Given the description of an element on the screen output the (x, y) to click on. 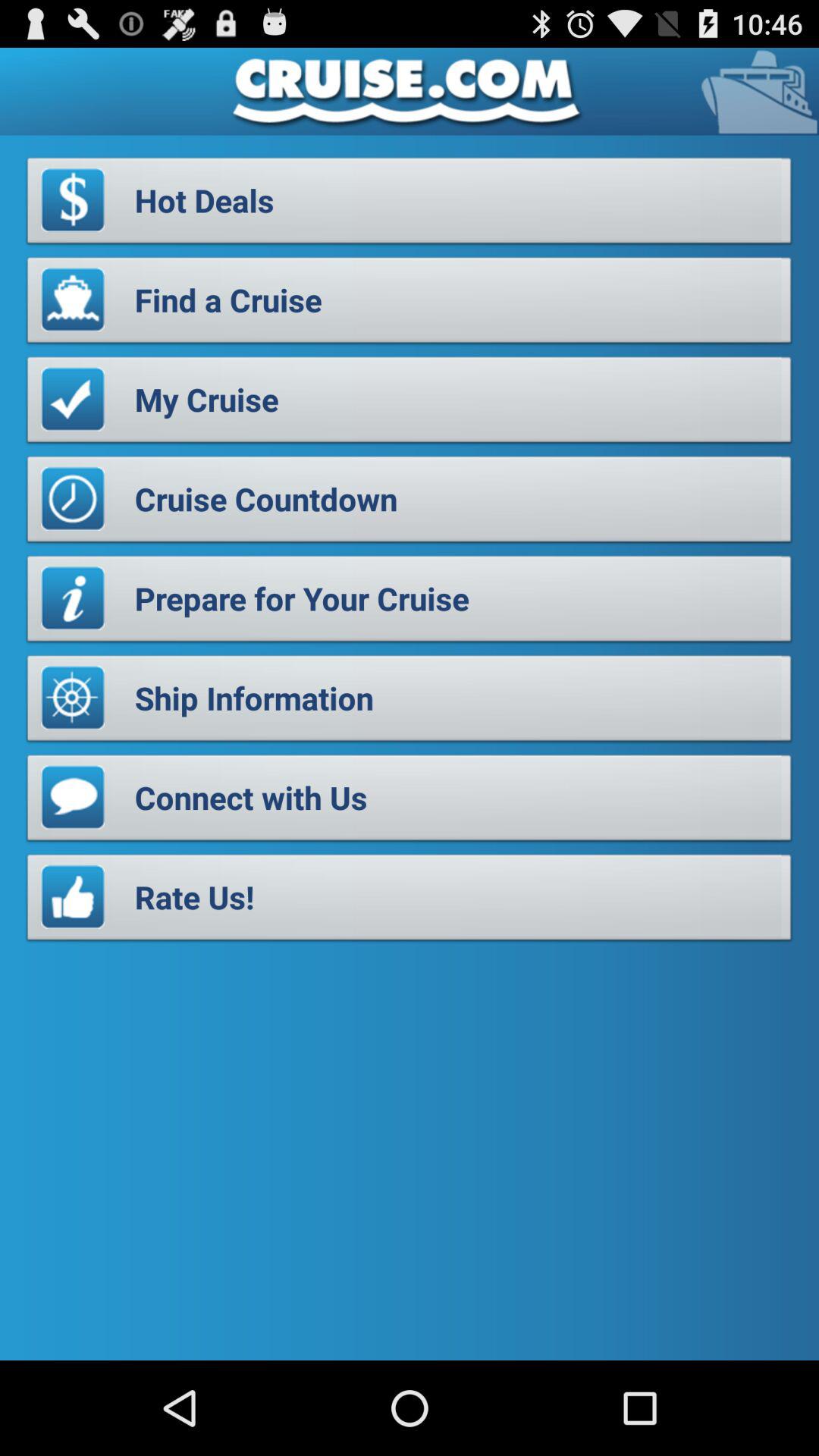
click the rate us! item (409, 901)
